Given the description of an element on the screen output the (x, y) to click on. 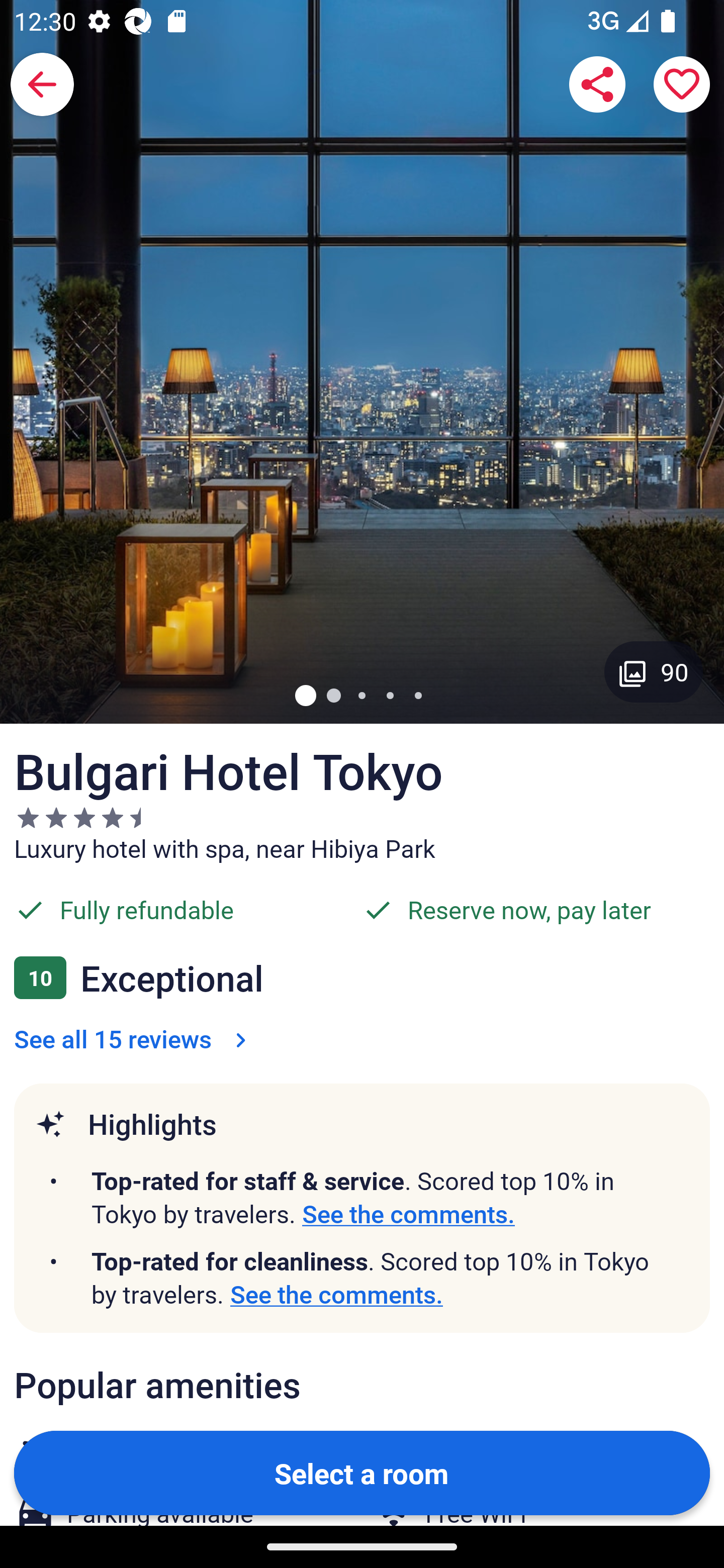
Back (42, 84)
Save property to a trip (681, 84)
Share Bulgari Hotel Tokyo (597, 84)
Gallery button with 90 images (653, 671)
See all 15 reviews See all 15 reviews Link (133, 1038)
Select a room Button Select a room (361, 1472)
